Given the description of an element on the screen output the (x, y) to click on. 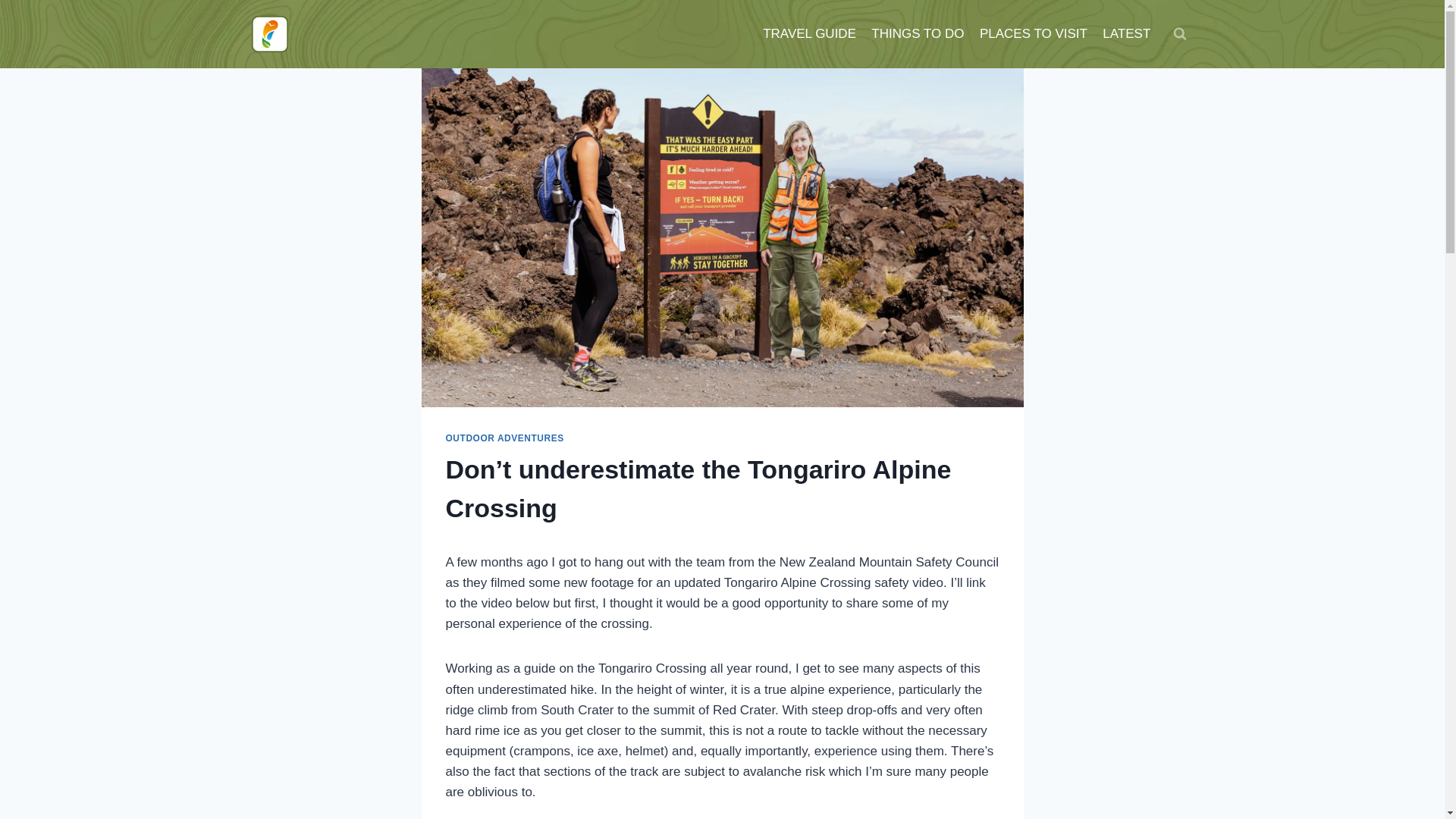
PLACES TO VISIT (1033, 33)
TRAVEL GUIDE (809, 33)
THINGS TO DO (917, 33)
LATEST (1125, 33)
OUTDOOR ADVENTURES (504, 438)
